Given the description of an element on the screen output the (x, y) to click on. 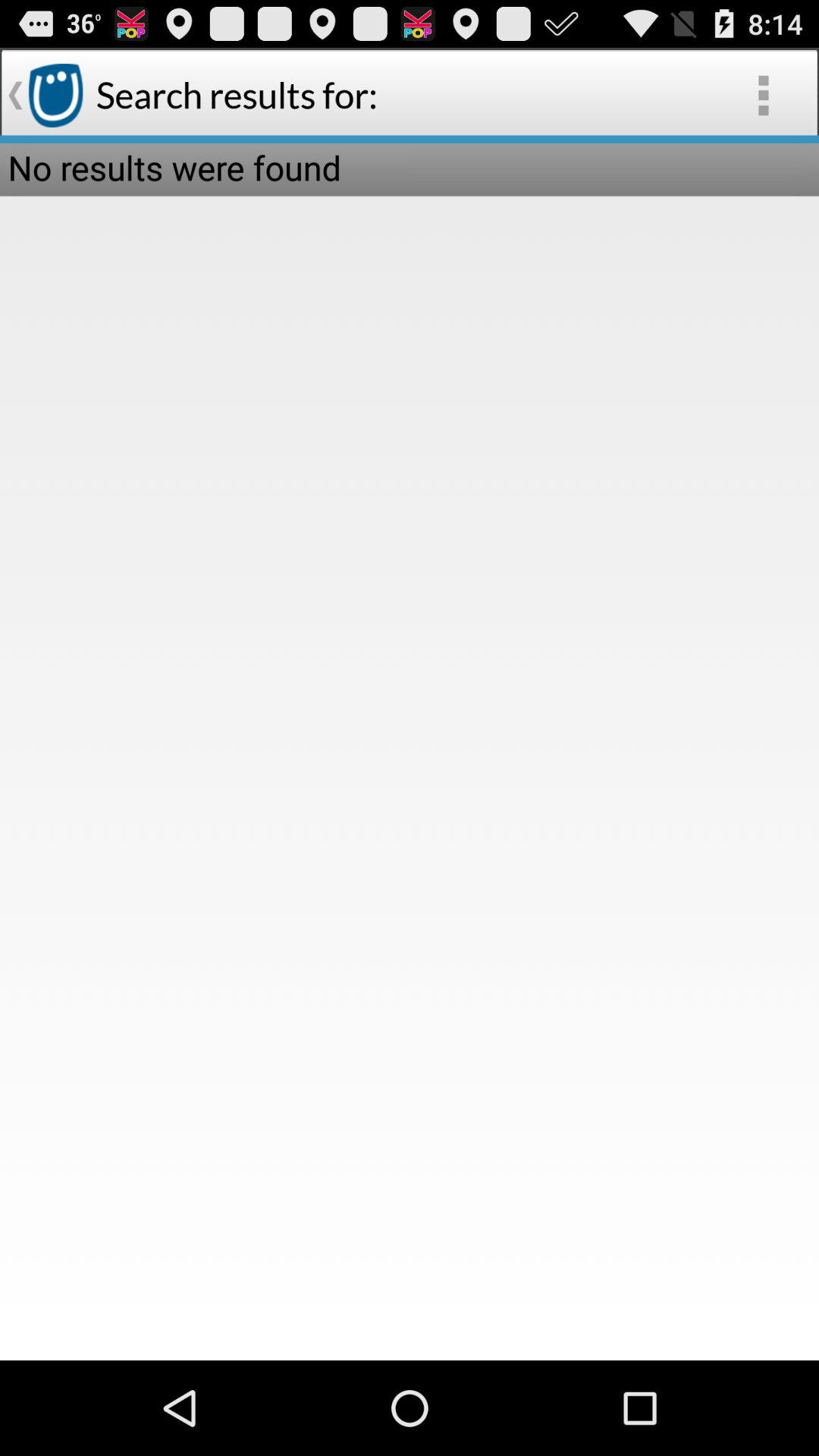
tap the item next to search results for:  icon (763, 95)
